Given the description of an element on the screen output the (x, y) to click on. 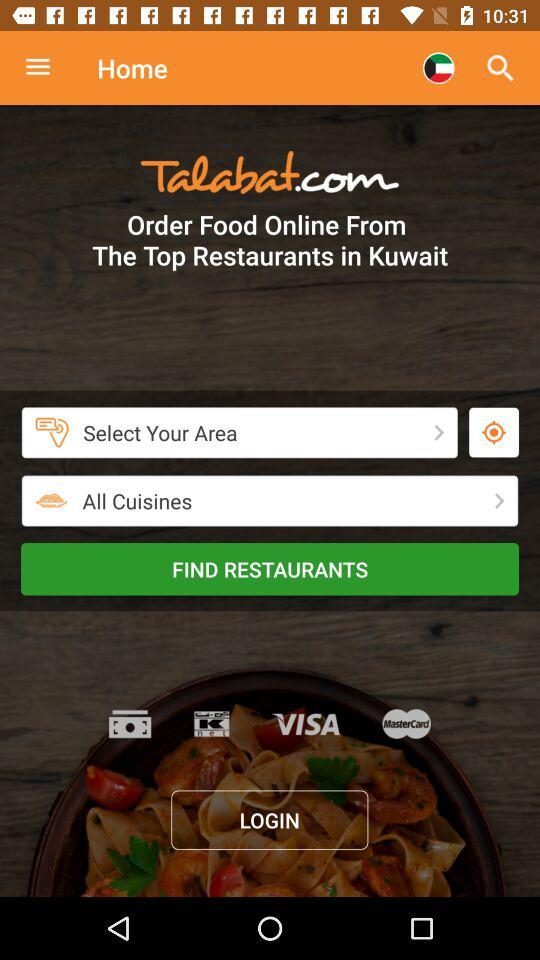
tap the next button just beside select your area (439, 433)
click on the icon just to the left of search icon (438, 67)
select all cuisines logo (51, 500)
click on find restaurants option (269, 569)
